Given the description of an element on the screen output the (x, y) to click on. 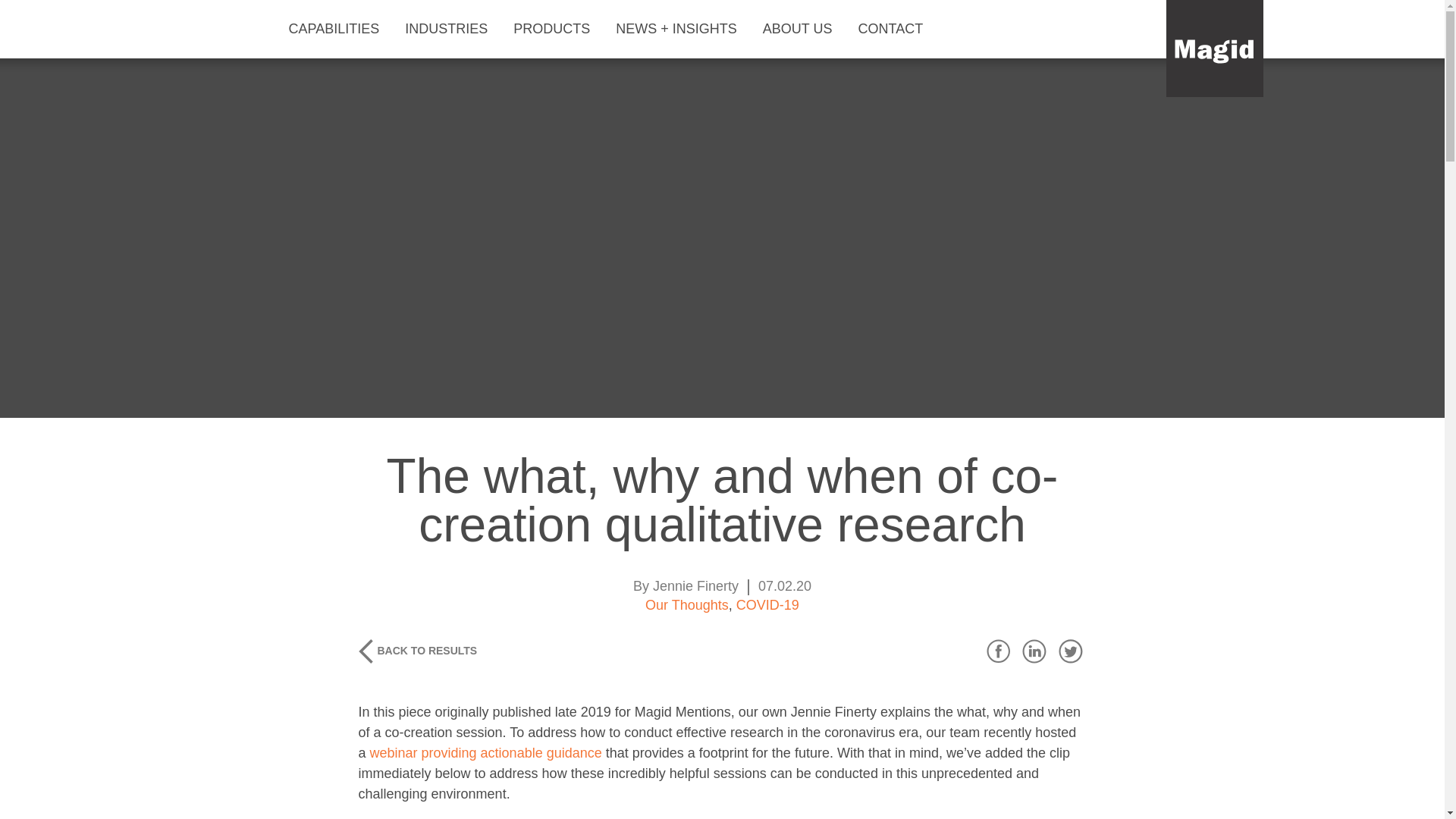
CONTACT (895, 29)
CAPABILITIES (338, 29)
Magid (1214, 48)
ABOUT US (802, 29)
PRODUCTS (557, 29)
INDUSTRIES (451, 29)
